Given the description of an element on the screen output the (x, y) to click on. 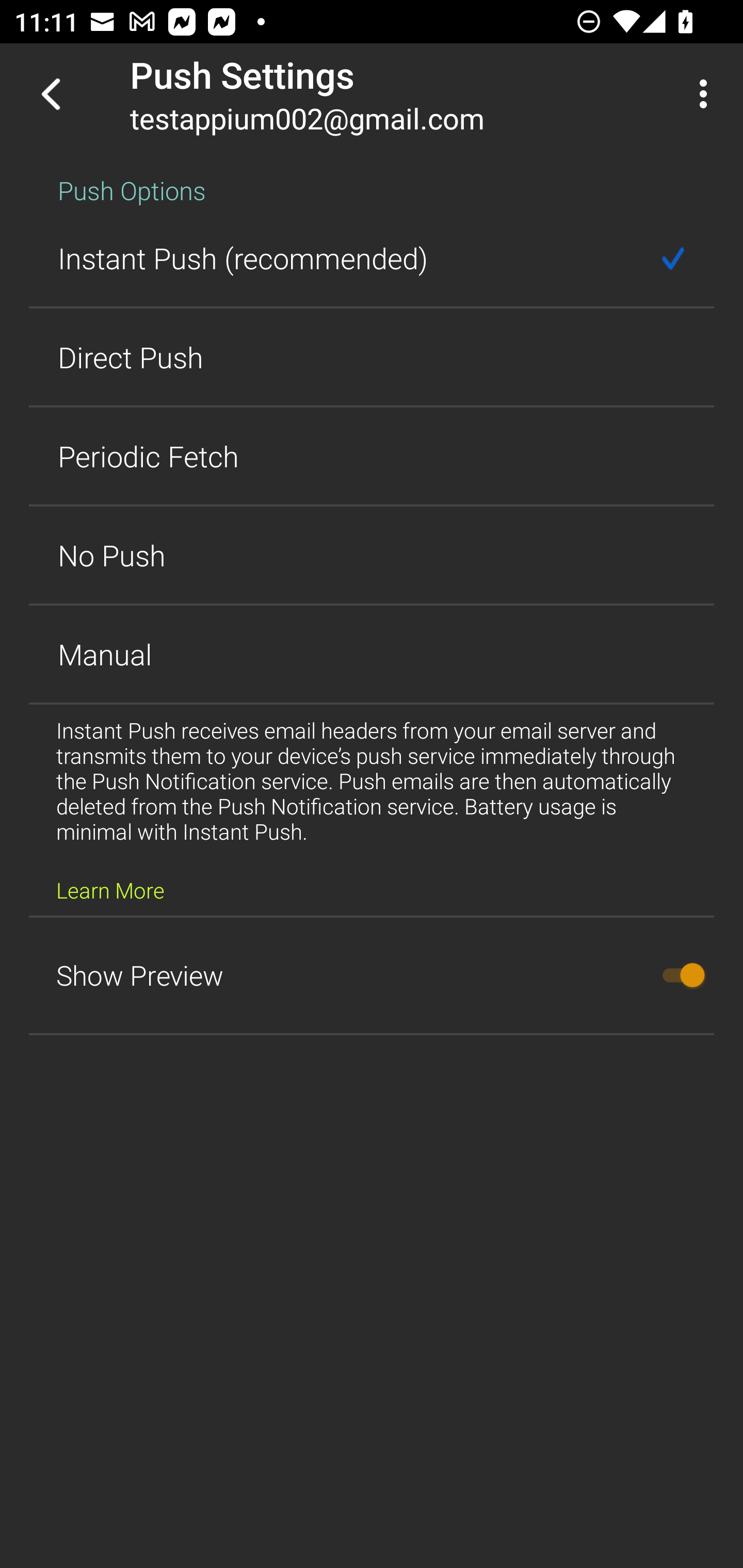
Navigate up (50, 93)
More options (706, 93)
Instant Push (recommended) (371, 257)
Direct Push (371, 357)
Periodic Fetch (371, 455)
No Push (371, 554)
Manual (371, 653)
Learn More (110, 889)
Show Preview (371, 975)
